Given the description of an element on the screen output the (x, y) to click on. 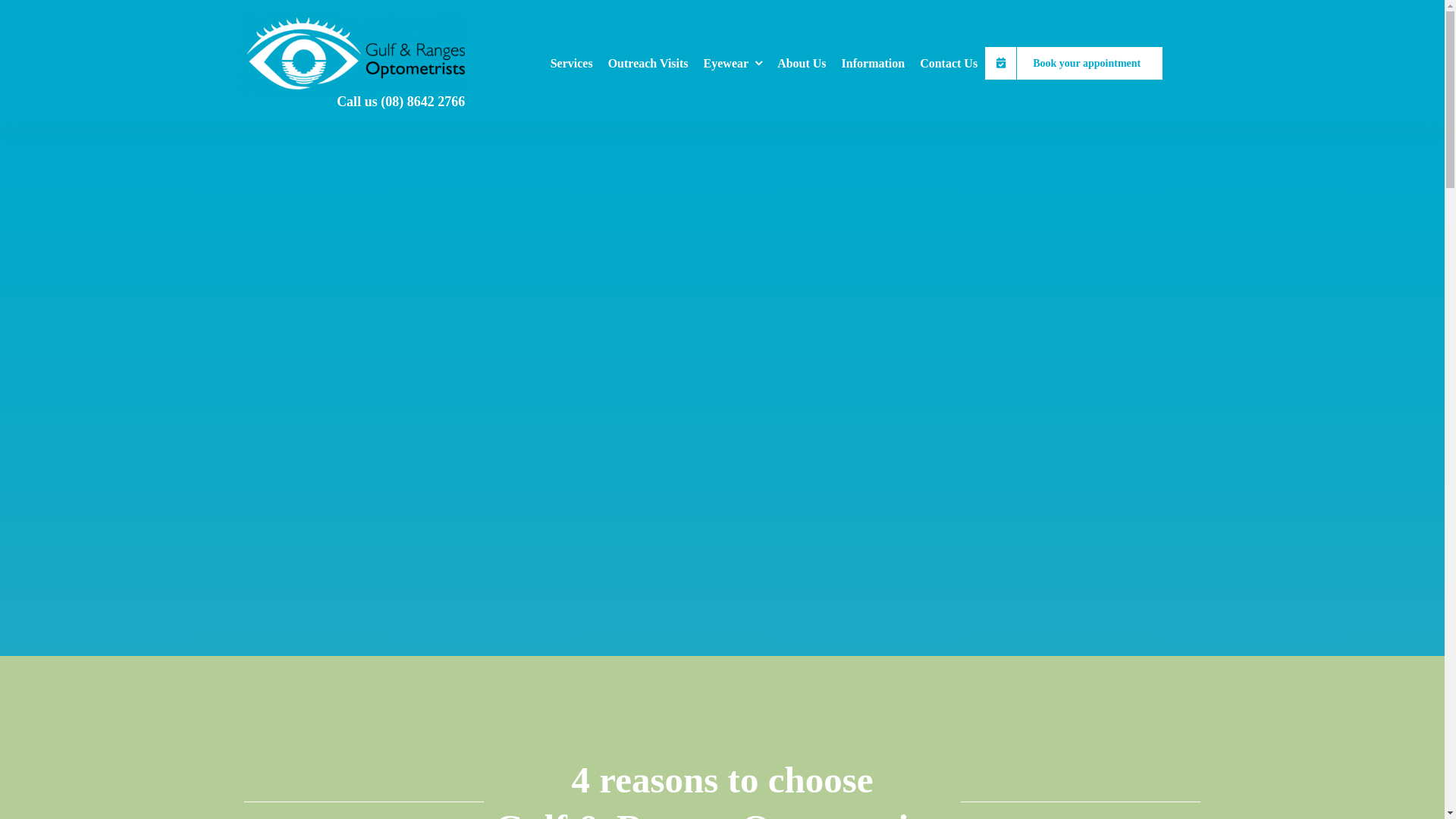
Contact Us Element type: text (948, 62)
Outreach Visits Element type: text (648, 62)
About Us Element type: text (801, 62)
(08) 8642 2766 Element type: text (422, 101)
Book your appointment Element type: text (1073, 62)
Services Element type: text (571, 62)
Eyewear Element type: text (733, 62)
Information Element type: text (873, 62)
